Given the description of an element on the screen output the (x, y) to click on. 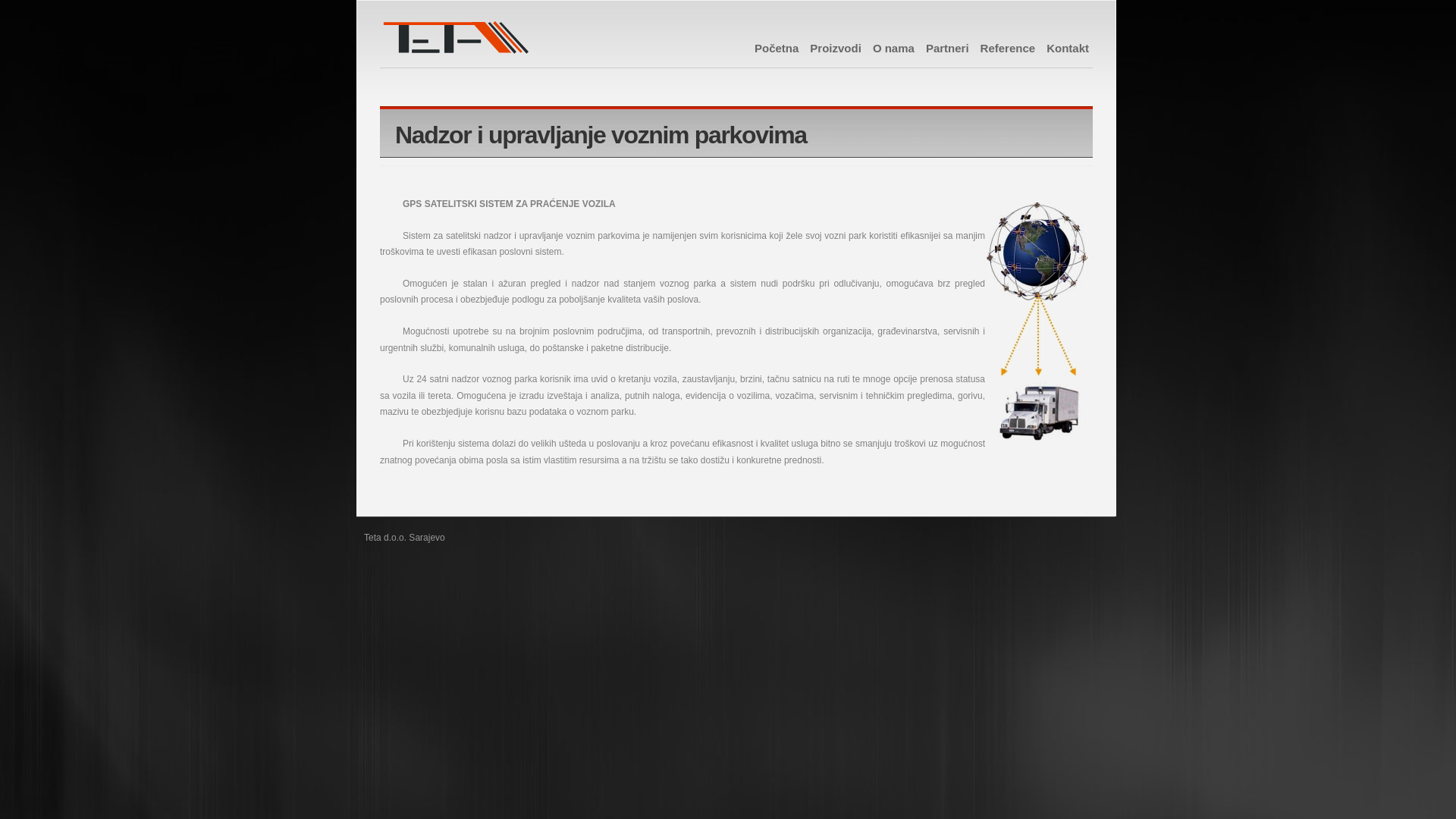
Proizvodi Element type: text (835, 47)
Reference Element type: text (1007, 47)
Partneri Element type: text (947, 47)
Kontakt Element type: text (1067, 47)
O nama Element type: text (893, 47)
